Given the description of an element on the screen output the (x, y) to click on. 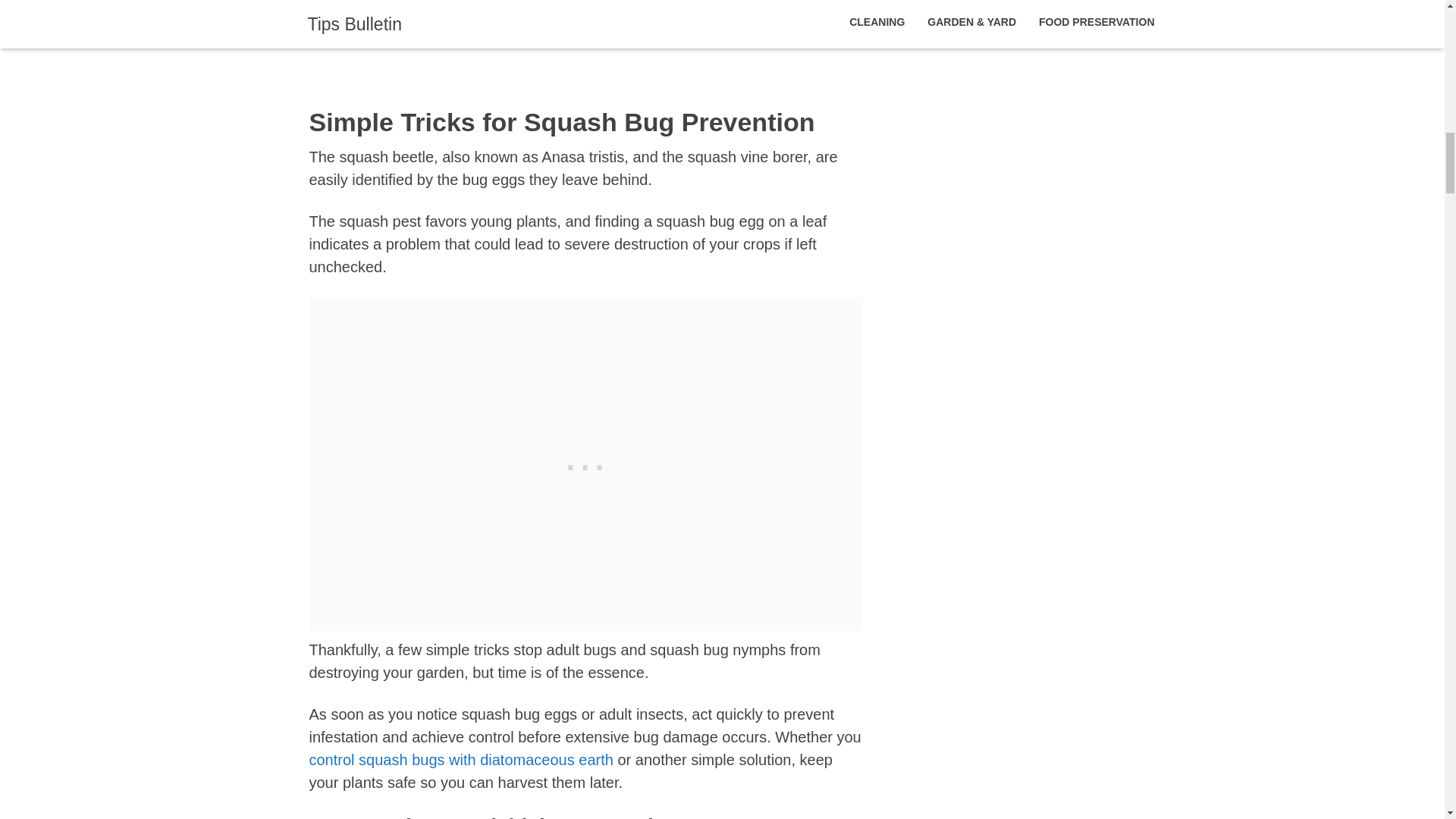
Preventing Squash Beetles by Attracting Beneficial Insects (570, 2)
control squash bugs with diatomaceous earth (460, 759)
Hand Pick Insect Pests and Squash Bug Eggs (529, 26)
